Given the description of an element on the screen output the (x, y) to click on. 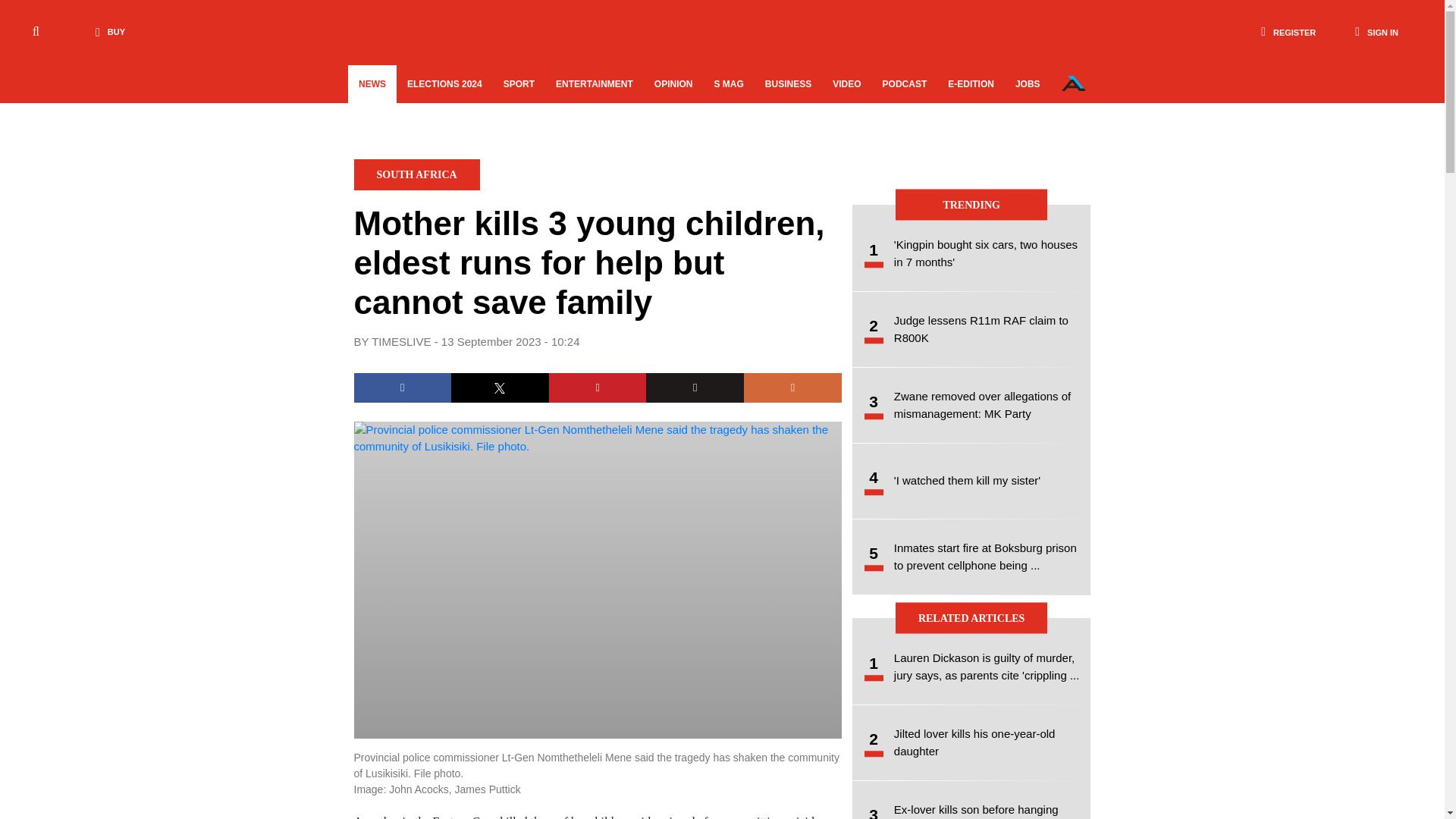
ENTERTAINMENT (593, 84)
ELECTIONS 2024 (444, 84)
NEWS (371, 84)
PODCAST (904, 84)
JOBS (1027, 84)
VIDEO (846, 84)
BUY (106, 32)
OPINION (673, 84)
S MAG (728, 84)
E-EDITION (970, 84)
SIGN IN (1376, 32)
SPORT (518, 84)
BUSINESS (788, 84)
REGISTER (1288, 32)
Our Network (1073, 83)
